Given the description of an element on the screen output the (x, y) to click on. 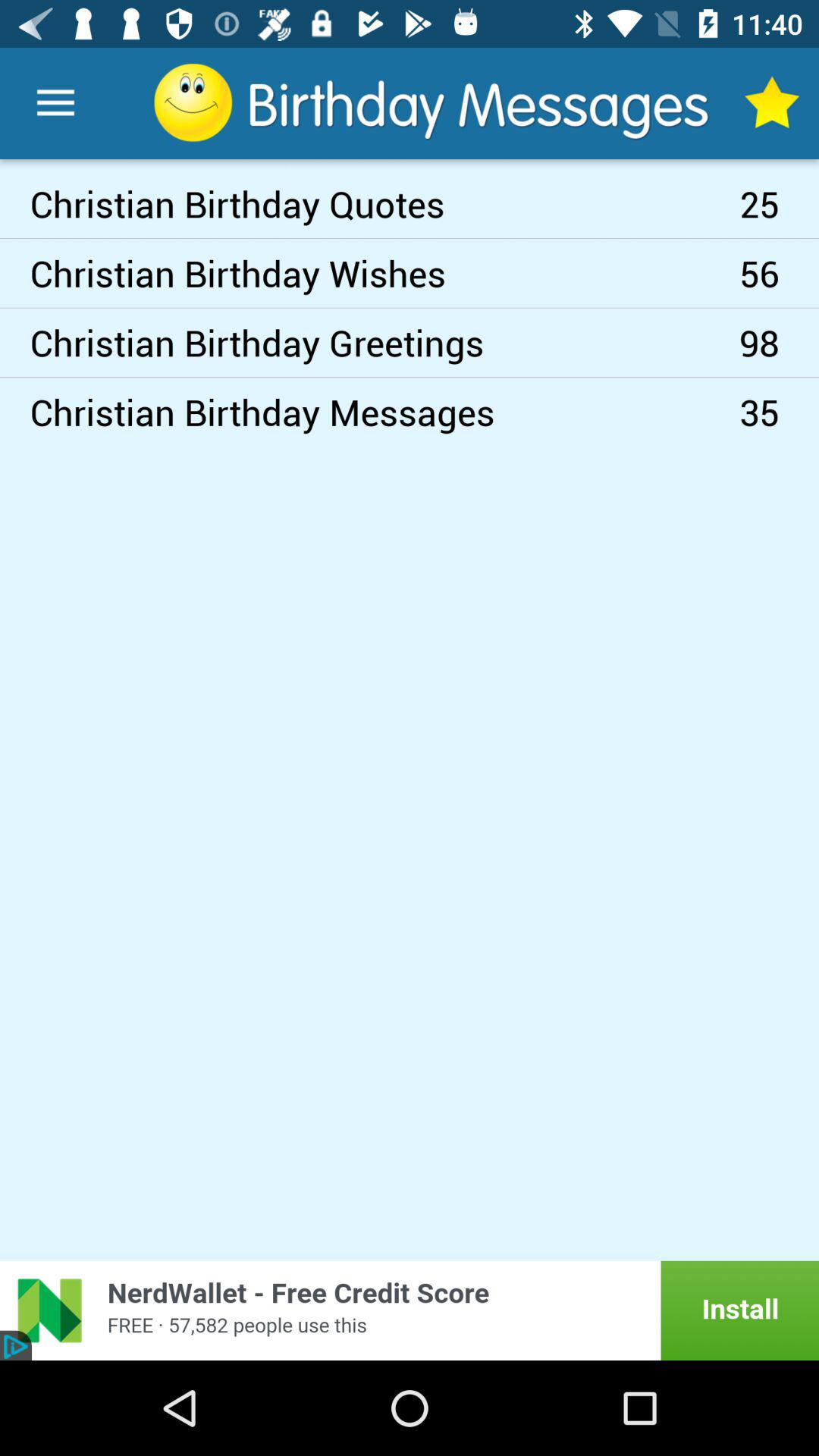
press icon to the right of the christian birthday messages (779, 411)
